Given the description of an element on the screen output the (x, y) to click on. 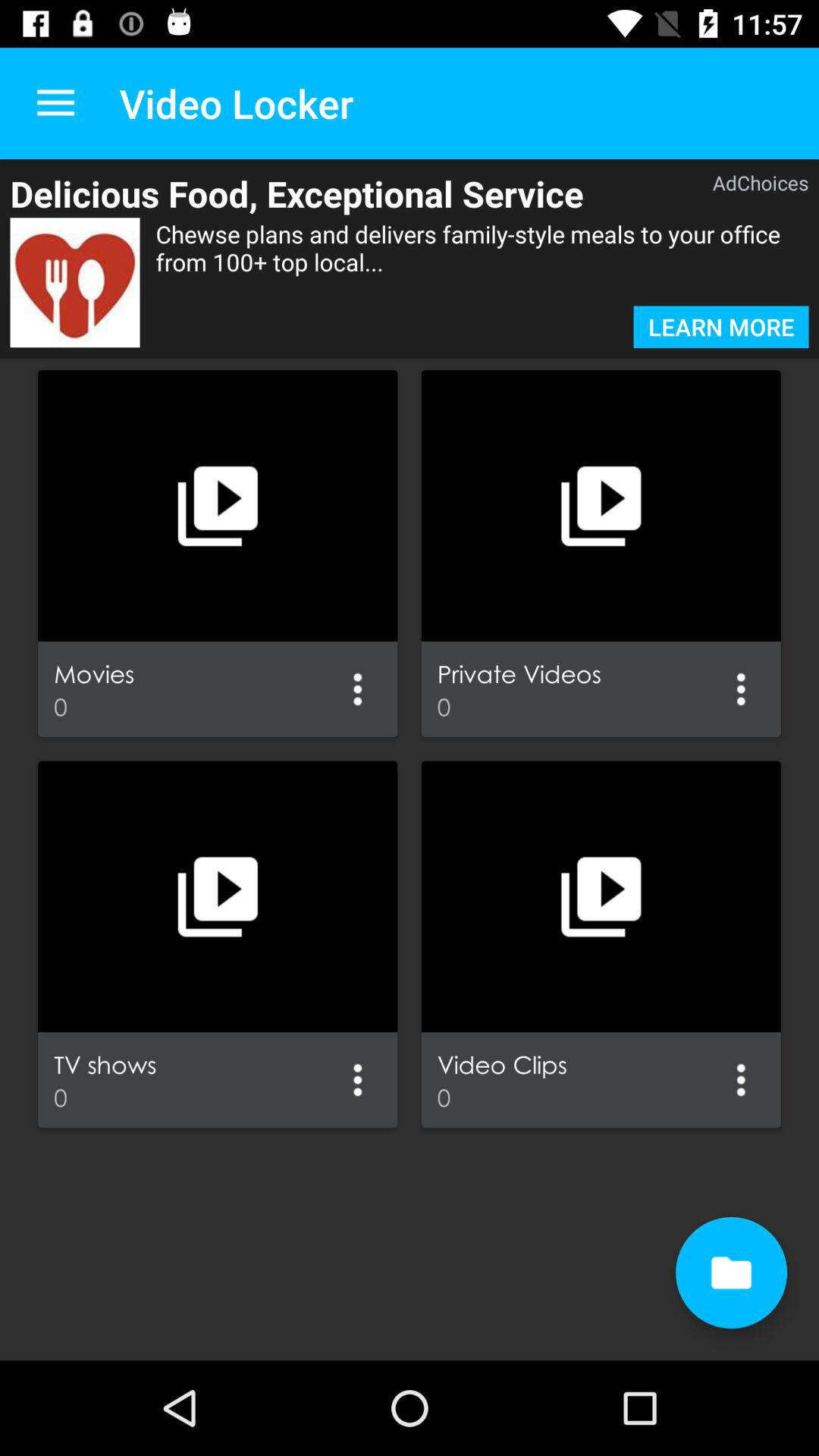
press the app to the left of the video locker item (55, 103)
